Given the description of an element on the screen output the (x, y) to click on. 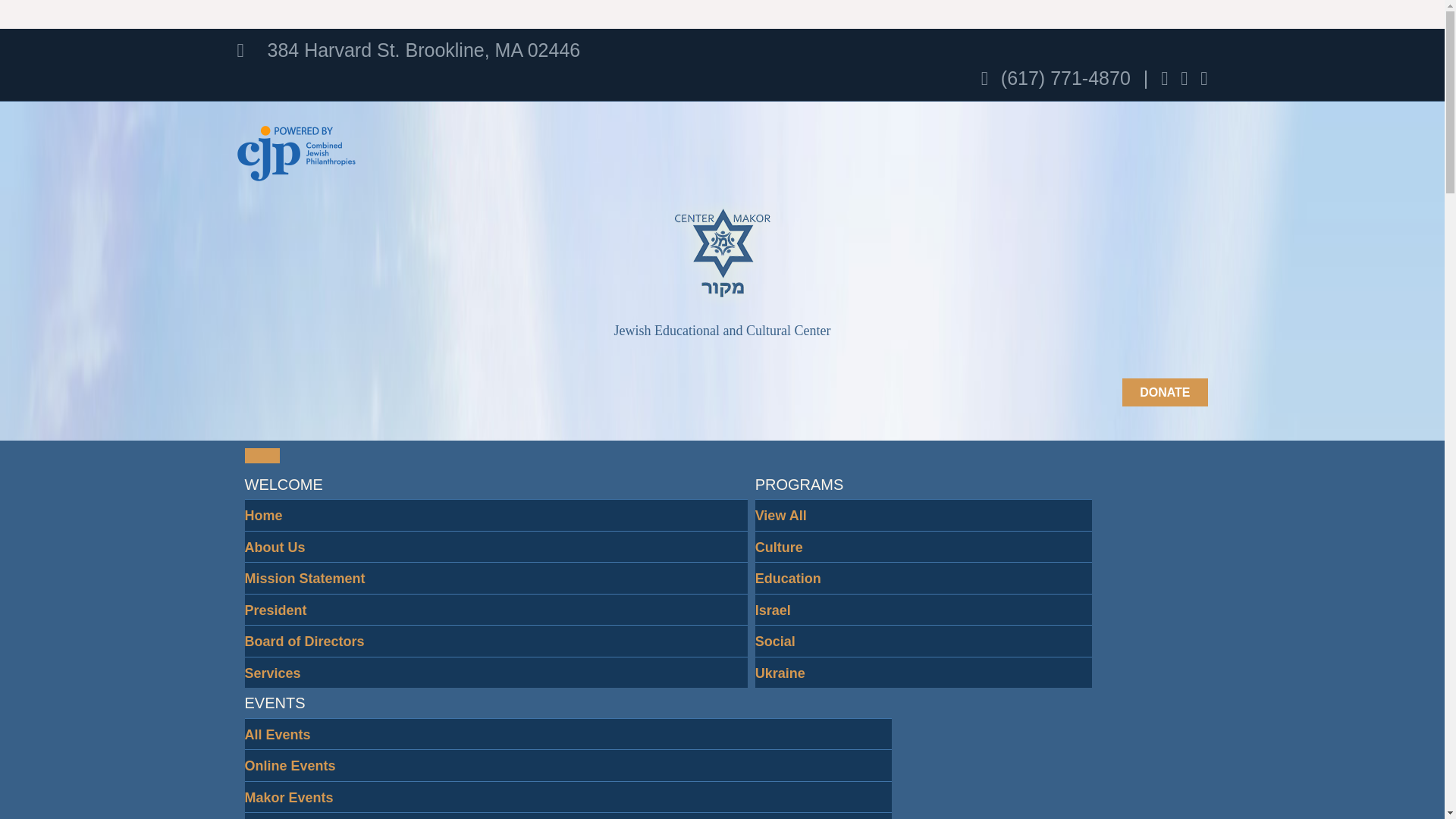
Home (263, 515)
Education (788, 578)
PROGRAMS (799, 484)
Makor Events (288, 796)
Culture (779, 546)
View All (780, 515)
WELCOME (282, 484)
EVENTS (274, 702)
Education (788, 578)
Ukraine (780, 672)
Services (271, 672)
Israel (772, 610)
Services (271, 672)
Culture (779, 546)
Community Events (306, 815)
